Given the description of an element on the screen output the (x, y) to click on. 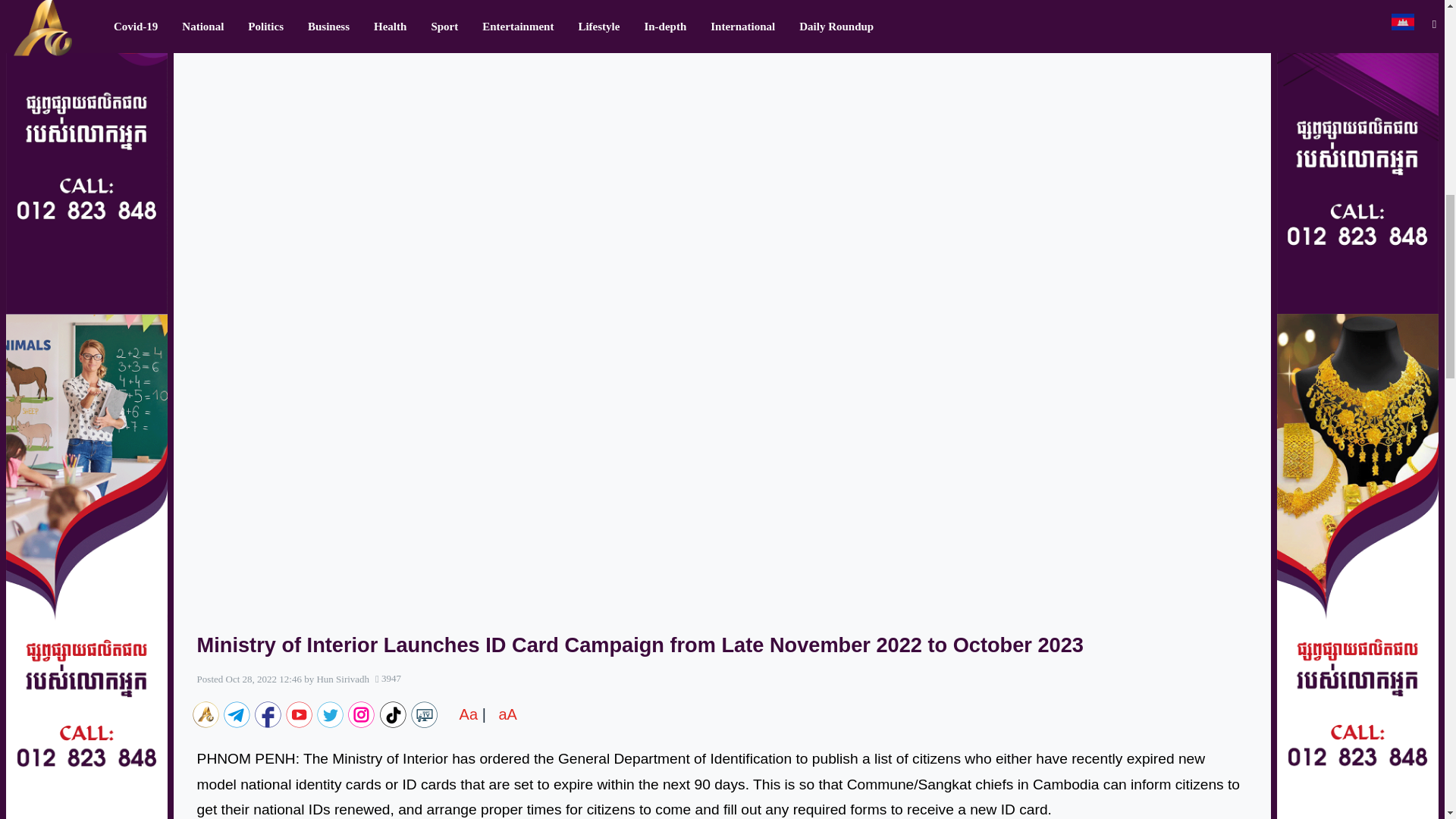
Total View (388, 677)
